Given the description of an element on the screen output the (x, y) to click on. 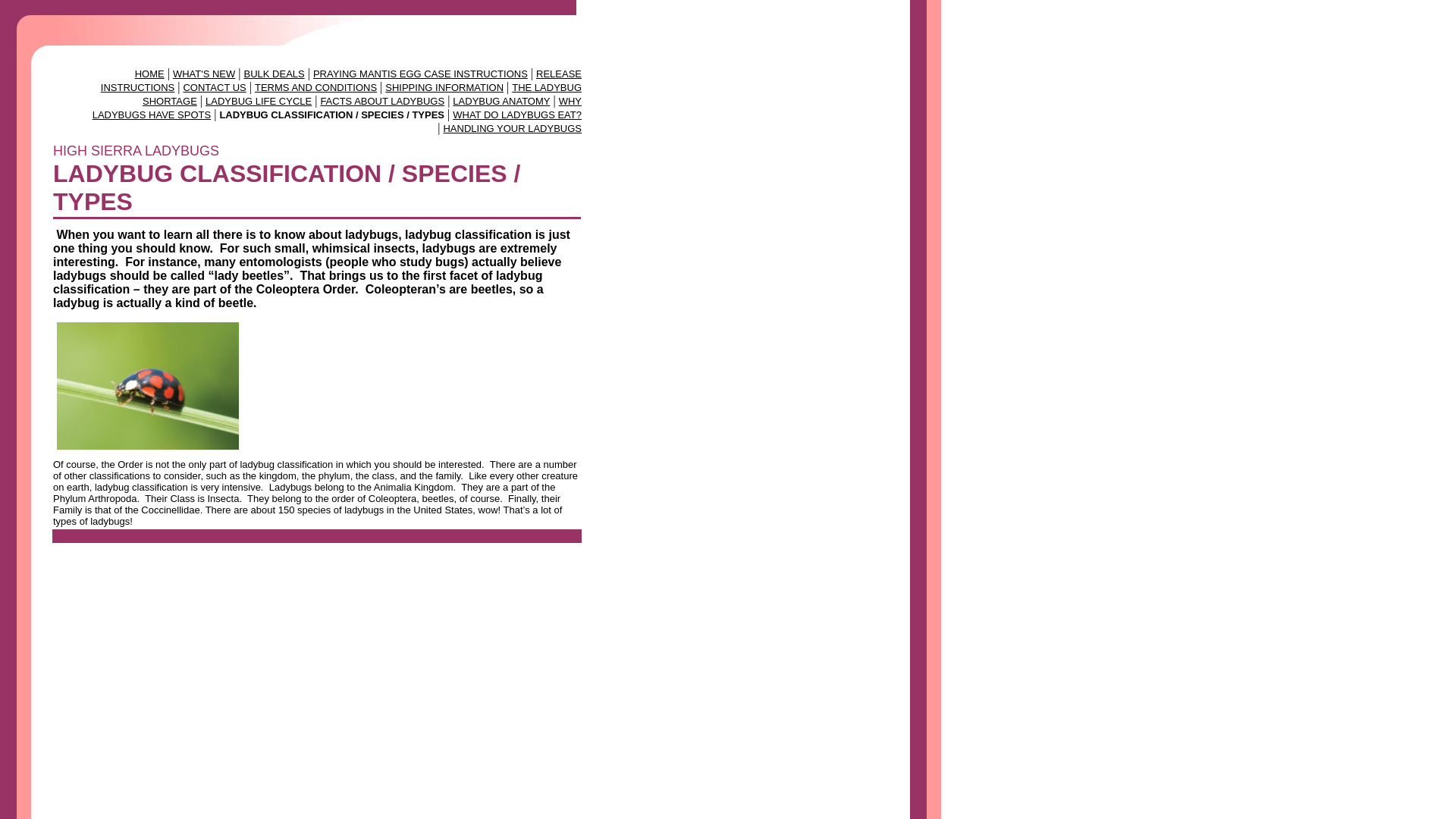
LADYBUG ANATOMY (501, 101)
SHIPPING INFORMATION (444, 87)
BULK DEALS (274, 73)
PRAYING MANTIS EGG CASE INSTRUCTIONS (420, 73)
TERMS AND CONDITIONS (315, 87)
FACTS ABOUT LADYBUGS (382, 101)
LADYBUG LIFE CYCLE (258, 101)
WHAT'S NEW (203, 73)
WHAT DO LADYBUGS EAT? (516, 114)
RELEASE INSTRUCTIONS (340, 80)
HANDLING YOUR LADYBUGS (511, 128)
THE LADYBUG SHORTAGE (361, 94)
HOME (149, 73)
CONTACT US (214, 87)
WHY LADYBUGS HAVE SPOTS (336, 107)
